Given the description of an element on the screen output the (x, y) to click on. 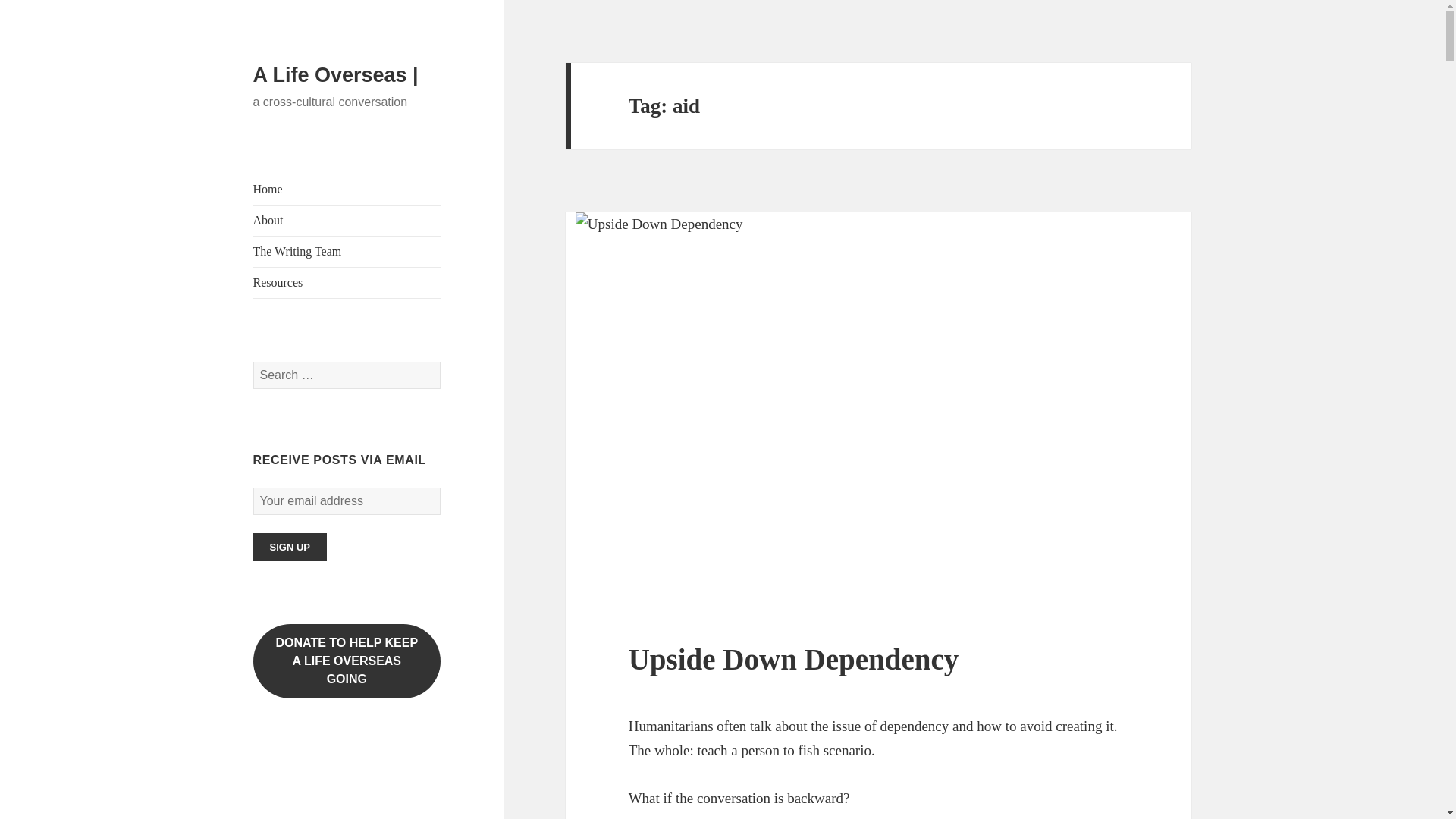
Upside Down Dependency (793, 658)
The Writing Team (347, 251)
Home (347, 189)
Search (347, 661)
Search (347, 282)
Search (347, 220)
